Given the description of an element on the screen output the (x, y) to click on. 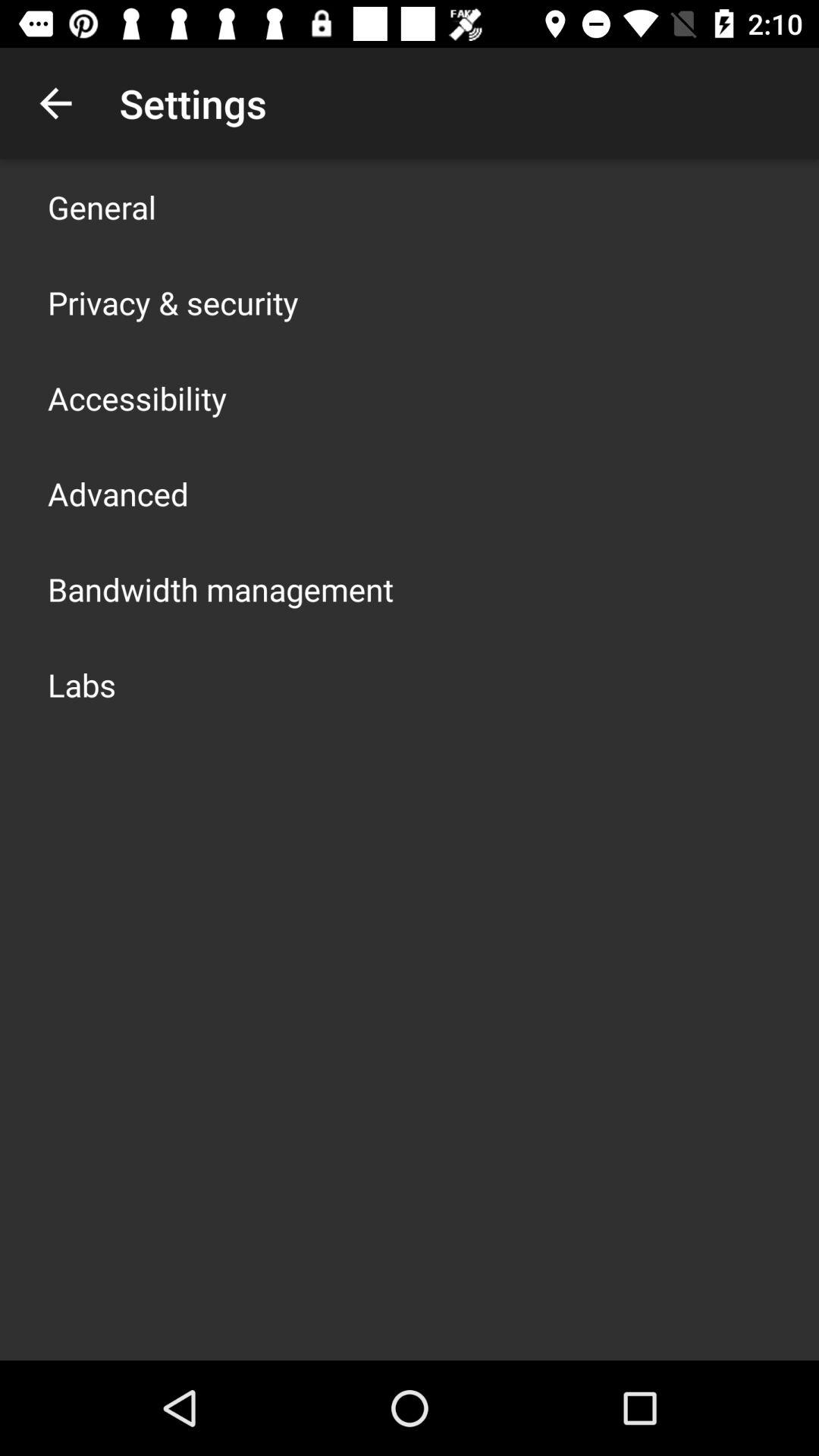
select the app to the left of settings icon (55, 103)
